Given the description of an element on the screen output the (x, y) to click on. 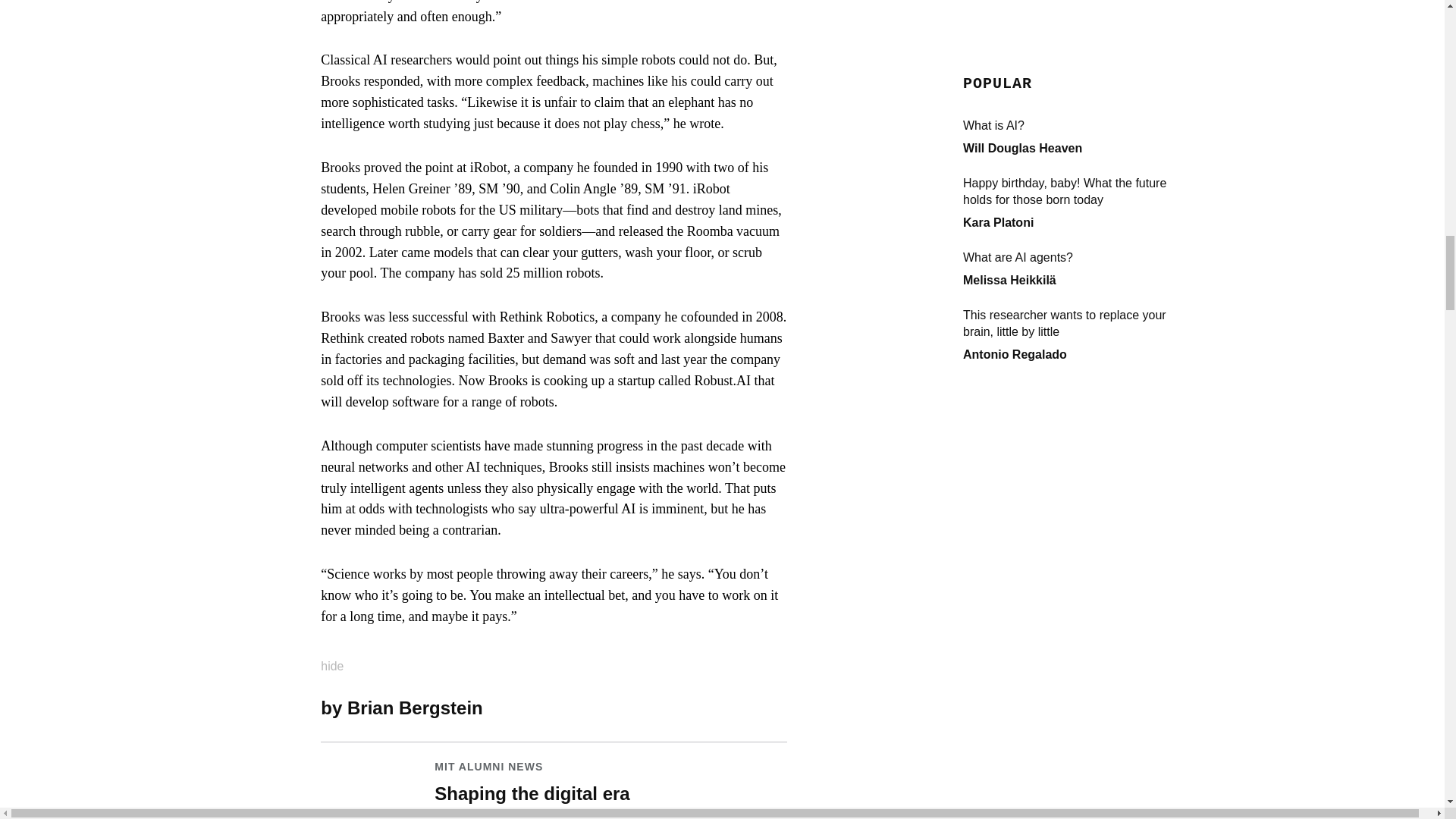
Share story on linkedin (703, 707)
Share story on twitter (730, 707)
Share story on email (780, 707)
hide (341, 661)
Brian Bergstein (415, 707)
Share story on facebook (754, 707)
